Given the description of an element on the screen output the (x, y) to click on. 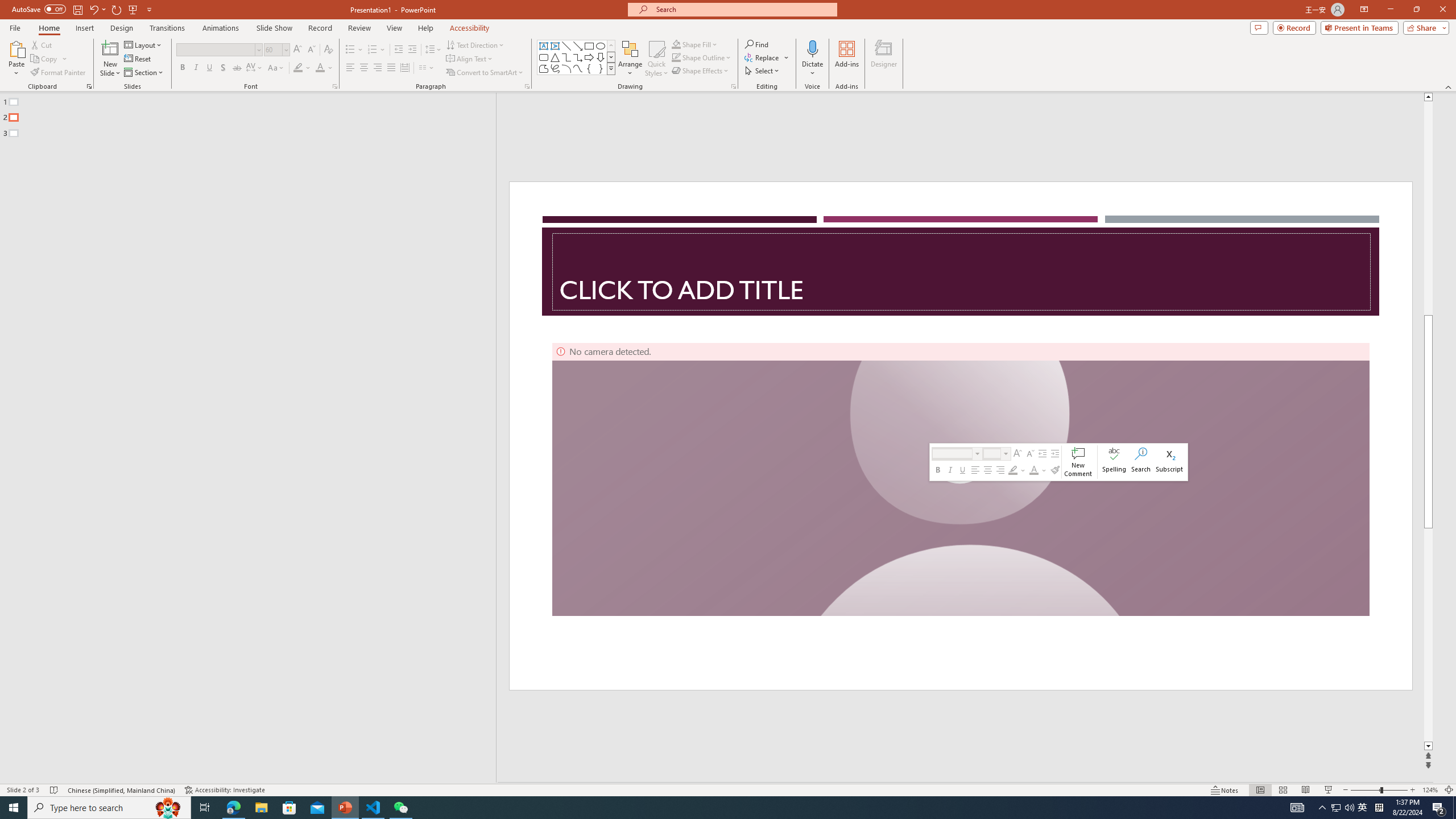
File Tab (15, 27)
Slide Show (1328, 790)
Bullets (354, 49)
Rectangle (589, 45)
Distributed (404, 67)
Insert (83, 28)
Accessibility (469, 28)
Arrow: Right (589, 57)
Font (219, 49)
Help (425, 28)
Arc (566, 68)
Copy (45, 58)
Zoom 124% (1430, 790)
Review (359, 28)
Dictate (812, 58)
